Given the description of an element on the screen output the (x, y) to click on. 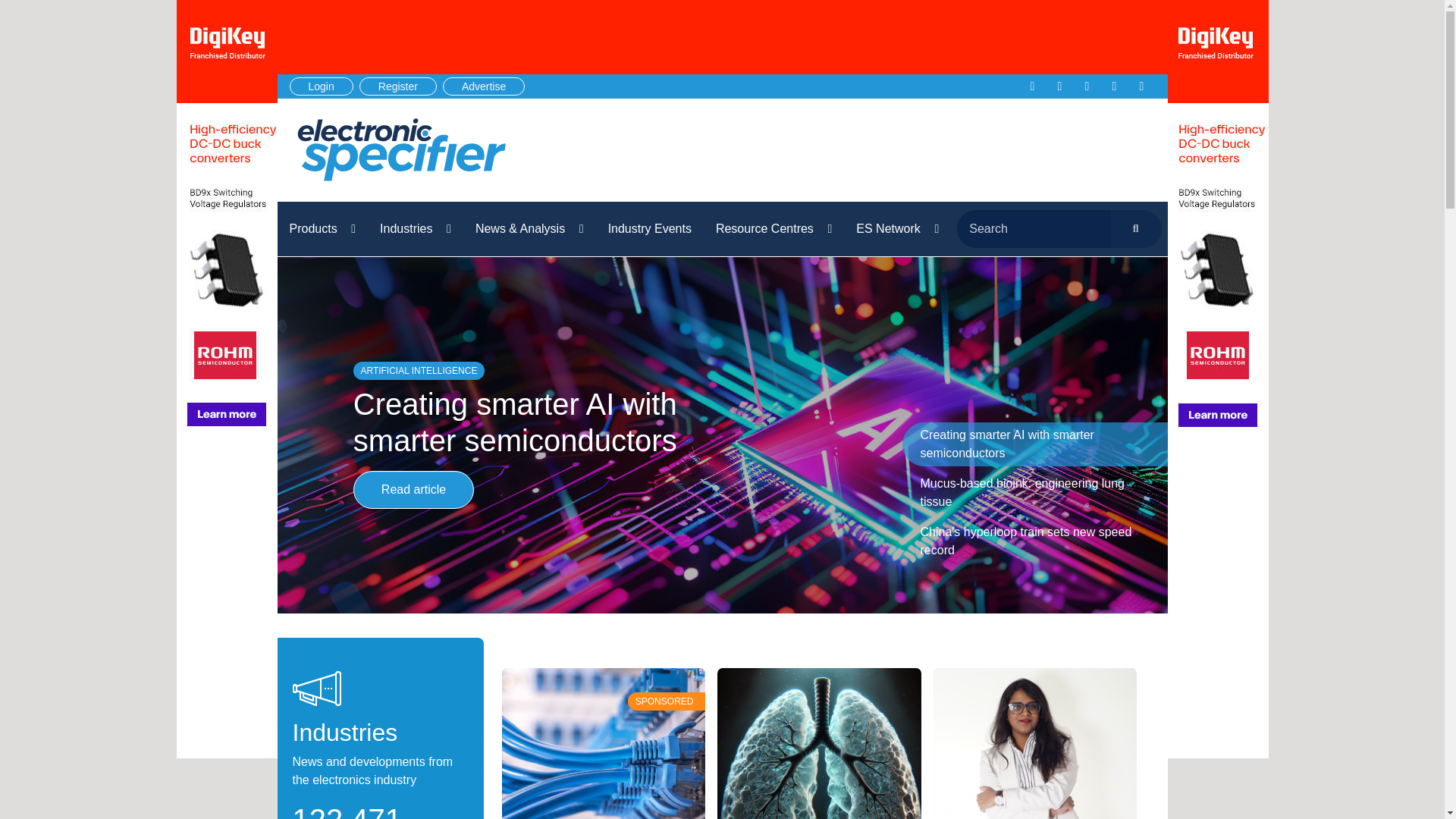
Products (323, 228)
3rd party ad content (874, 150)
Advertise (483, 85)
Register (397, 85)
Login (321, 85)
